Given the description of an element on the screen output the (x, y) to click on. 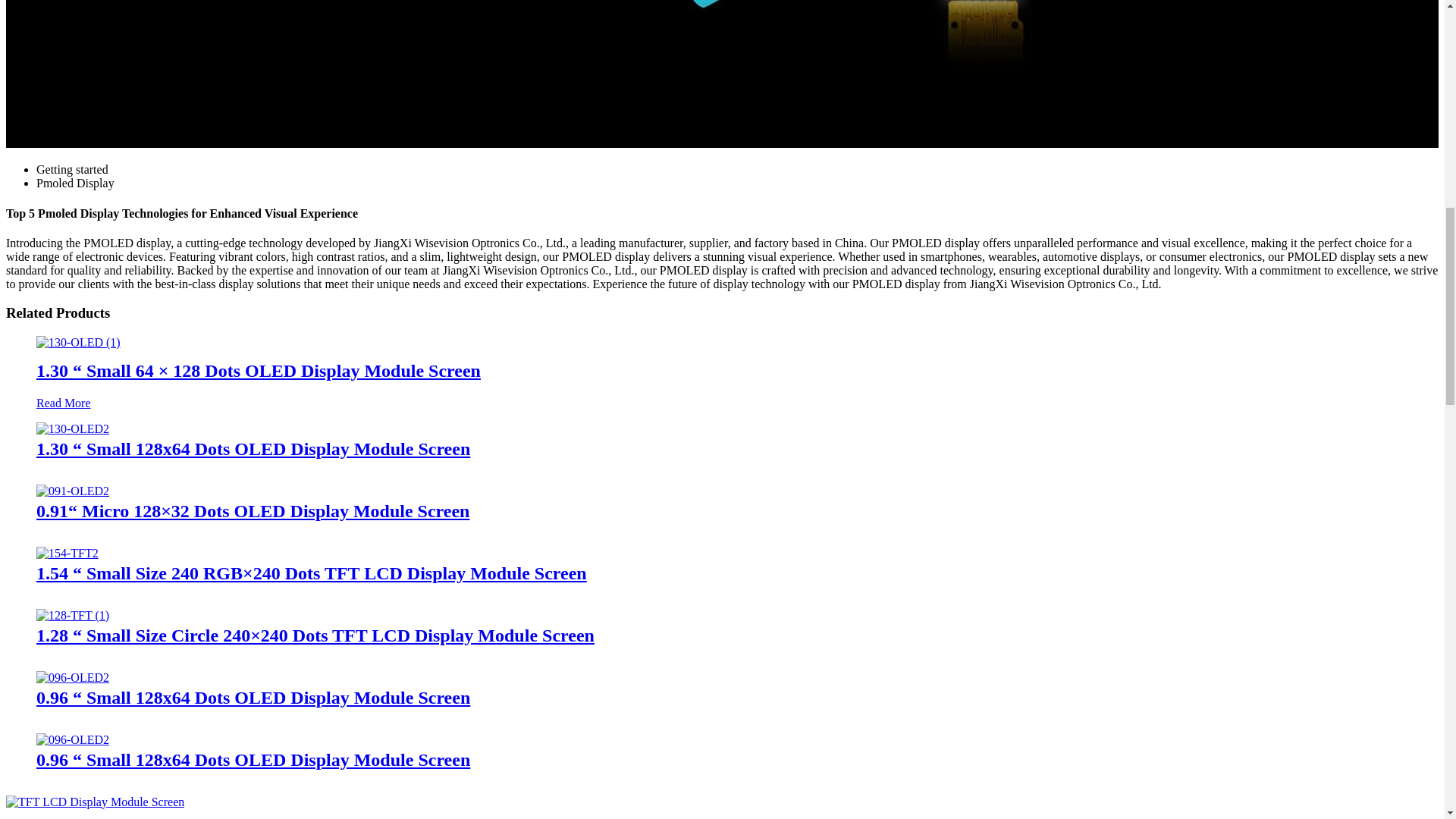
Pmoled Display (75, 182)
Read More (63, 402)
Getting started (71, 169)
